Given the description of an element on the screen output the (x, y) to click on. 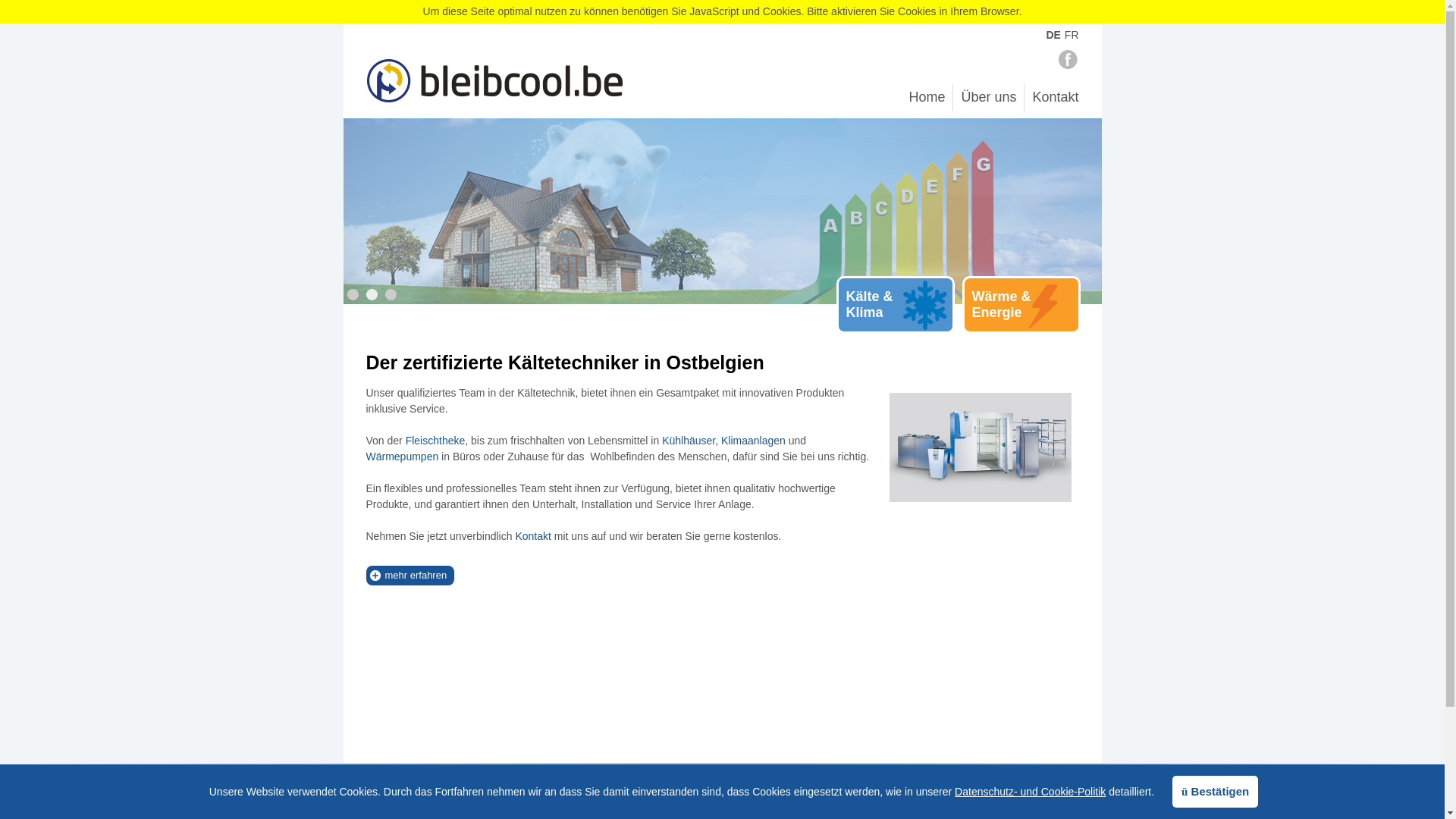
DE Element type: text (1052, 34)
1 Element type: text (352, 294)
mehr erfahren Element type: text (416, 574)
2 Element type: text (370, 294)
Datenschutz- und Cookie-Politik Element type: text (1029, 791)
Fleischtheke Element type: text (435, 440)
FR Element type: text (1071, 34)
Home Element type: text (926, 97)
Kontakt Element type: text (532, 536)
3 Element type: text (390, 294)
Kontakt Element type: text (1055, 97)
Klimaanlagen Element type: text (753, 440)
